Given the description of an element on the screen output the (x, y) to click on. 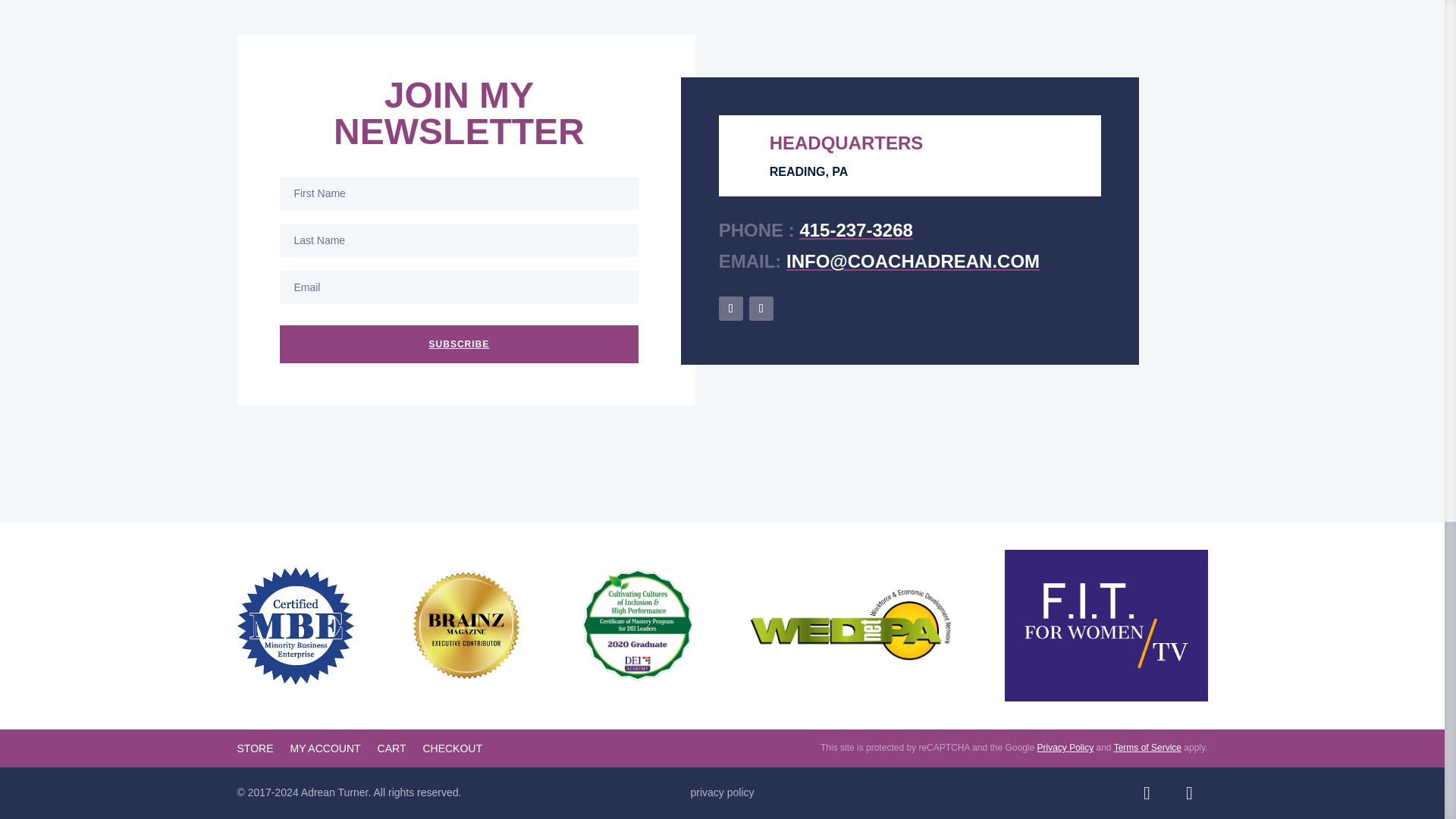
Follow on Youtube (1188, 792)
Follow on LinkedIn (730, 308)
SUBSCRIBE (459, 344)
wednetpa (850, 625)
CART (391, 751)
Follow on Youtube (761, 308)
STORE (254, 751)
415-237-3268 (855, 230)
MBE-Logo (296, 625)
MY ACCOUNT (324, 751)
BRAINZ-BADGE-HIGH-RES (466, 625)
Intro-Video-Overlay (1105, 625)
Follow on LinkedIn (1146, 792)
2020-DEI-Mastery-Graduate-Seal (636, 625)
